Given the description of an element on the screen output the (x, y) to click on. 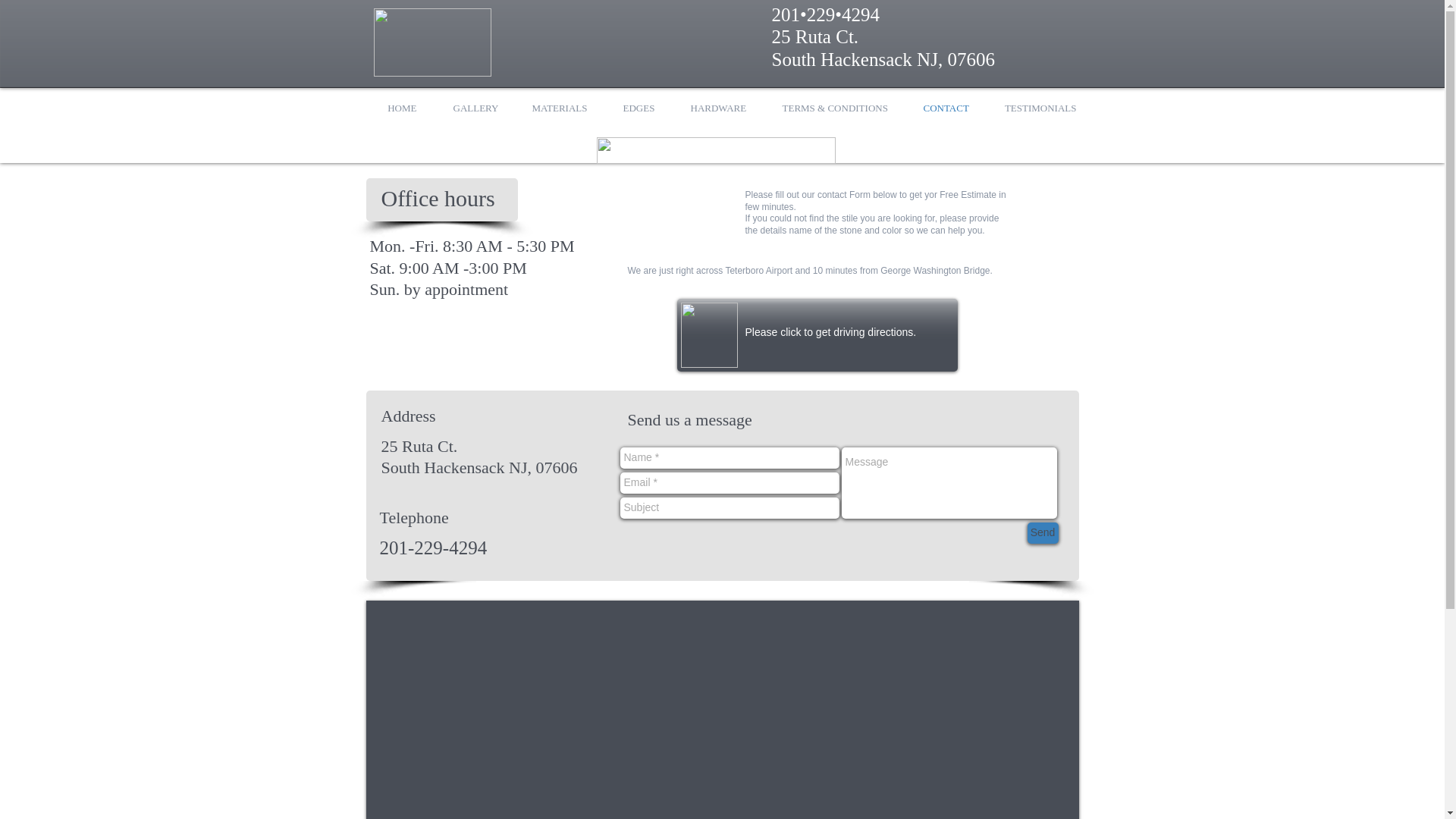
HOME (400, 107)
GALLERY (474, 107)
MATERIALS (559, 107)
HARDWARE (716, 107)
CONTACT (946, 107)
Send (1042, 532)
EDGES (638, 107)
TESTIMONIALS (1039, 107)
